Given the description of an element on the screen output the (x, y) to click on. 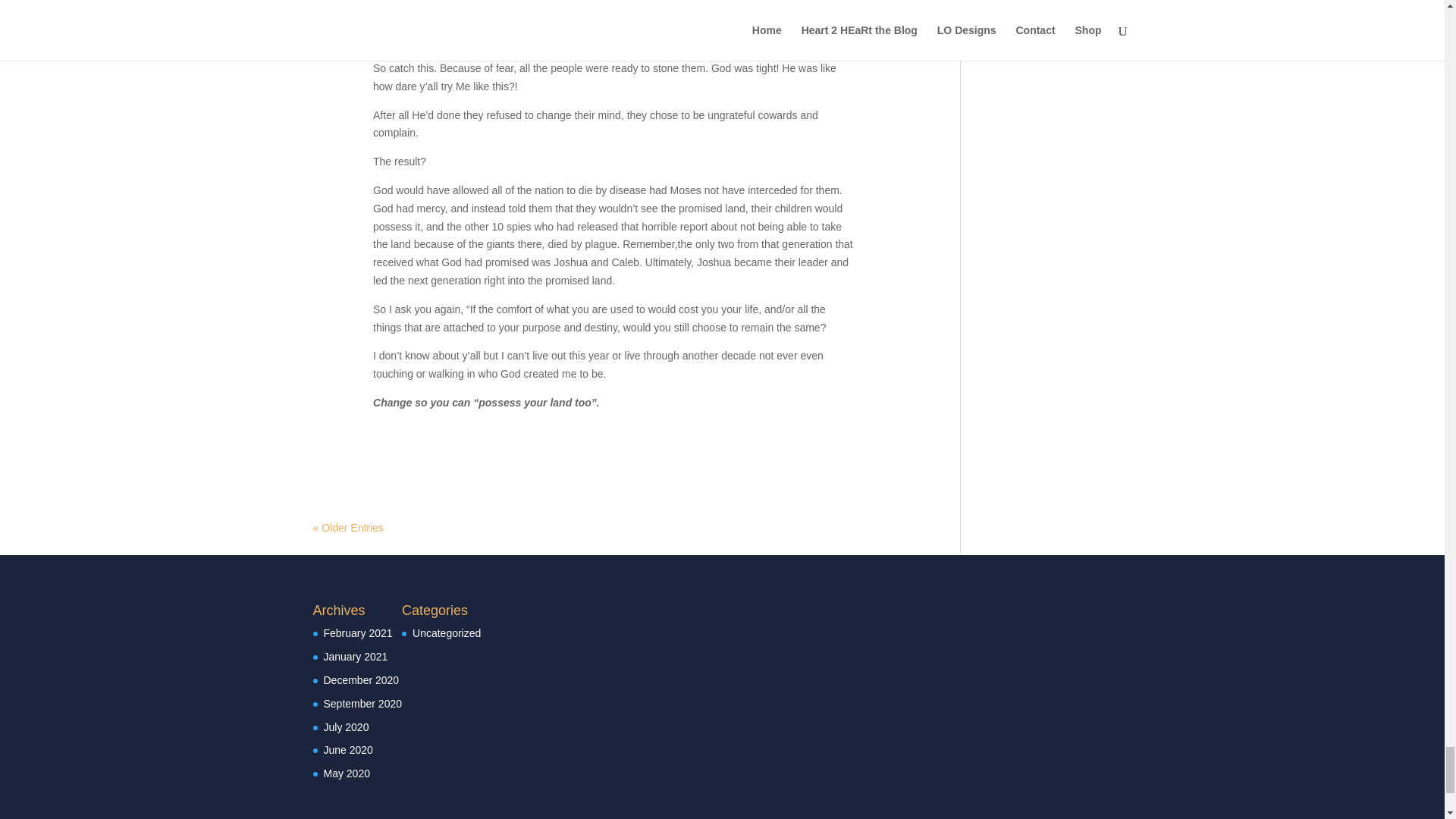
December 2020 (360, 680)
January 2021 (355, 656)
February 2021 (357, 633)
